Given the description of an element on the screen output the (x, y) to click on. 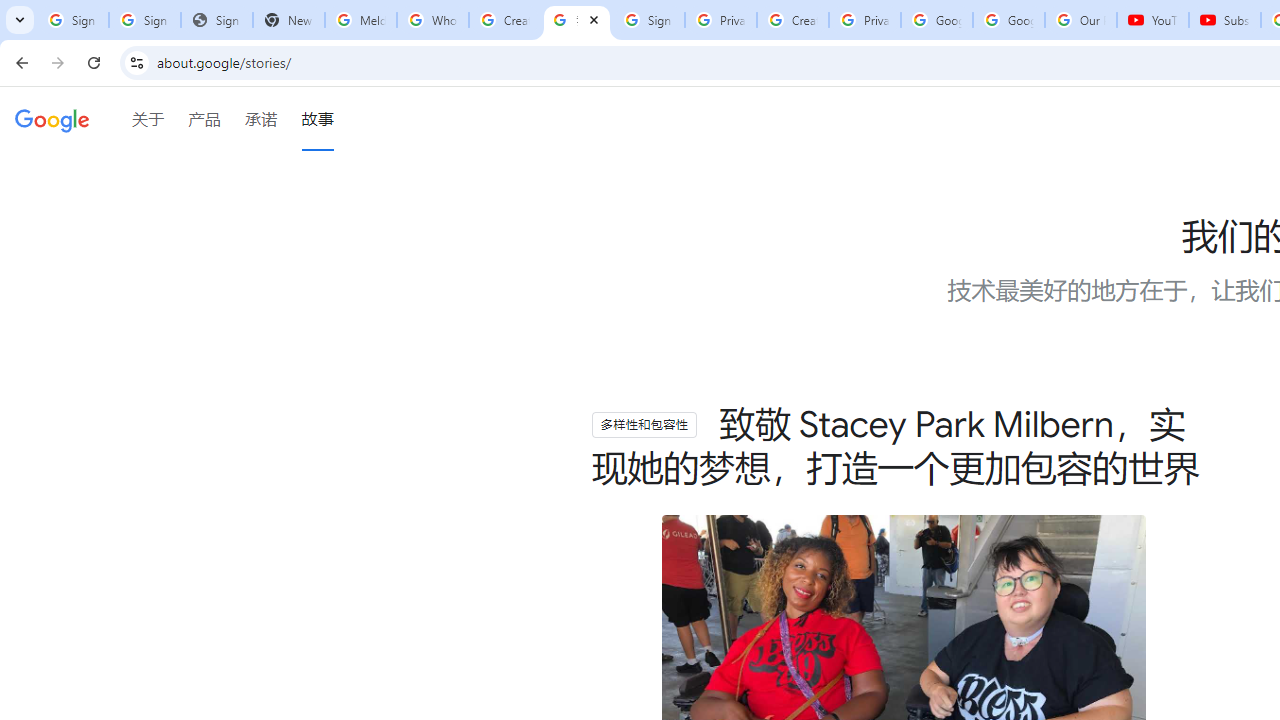
Google (52, 121)
Create your Google Account (504, 20)
YouTube (1153, 20)
Sign in - Google Accounts (144, 20)
Sign in - Google Accounts (648, 20)
